Given the description of an element on the screen output the (x, y) to click on. 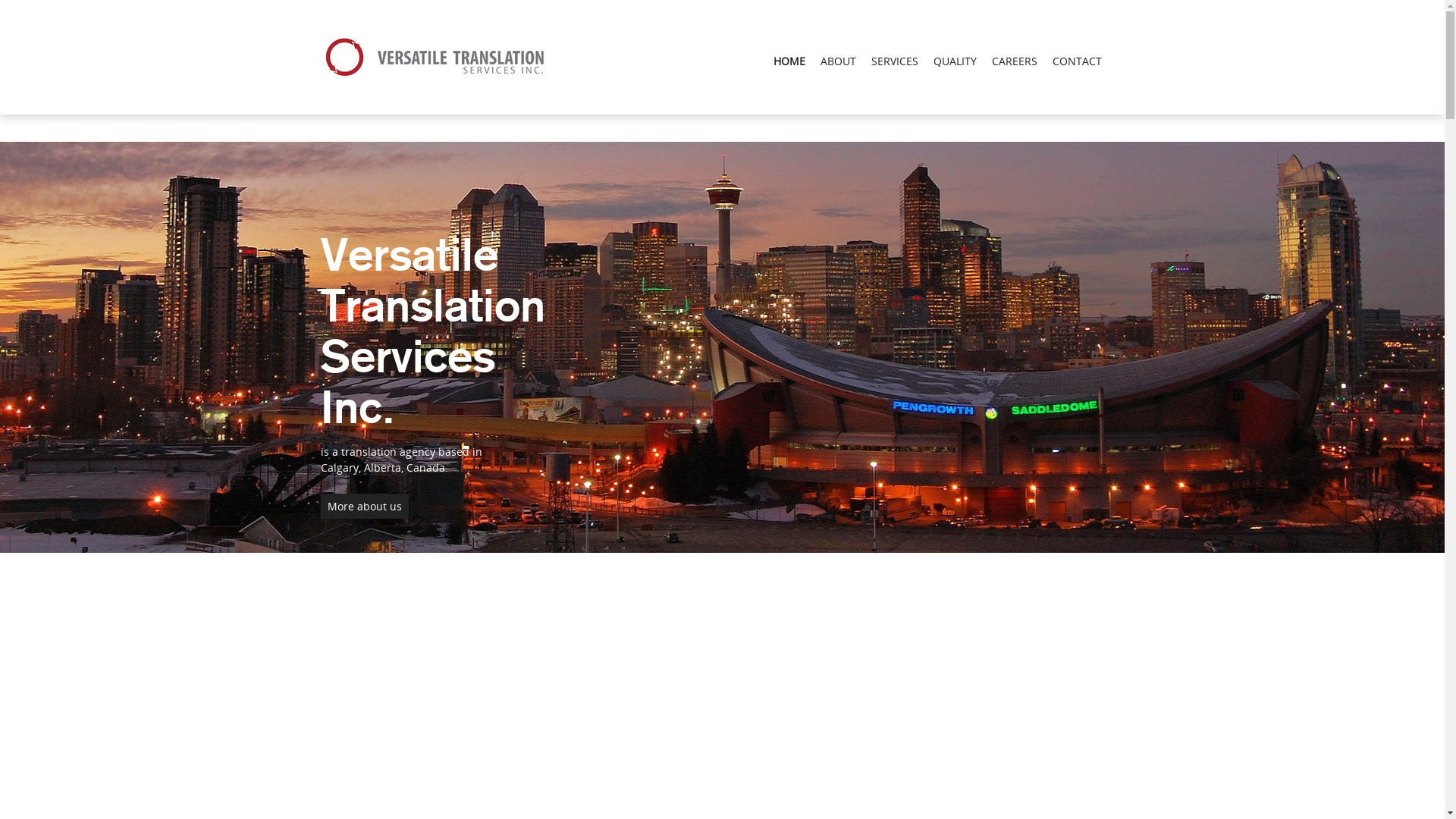
Google+ Element type: text (20, 7)
More about us Element type: text (363, 505)
CONTACT Element type: text (1076, 61)
CAREERS Element type: text (1014, 61)
SERVICES Element type: text (893, 61)
HOME Element type: text (789, 61)
ABOUT Element type: text (838, 61)
QUALITY Element type: text (953, 61)
Versatile Translation Services Element type: hover (437, 56)
